Given the description of an element on the screen output the (x, y) to click on. 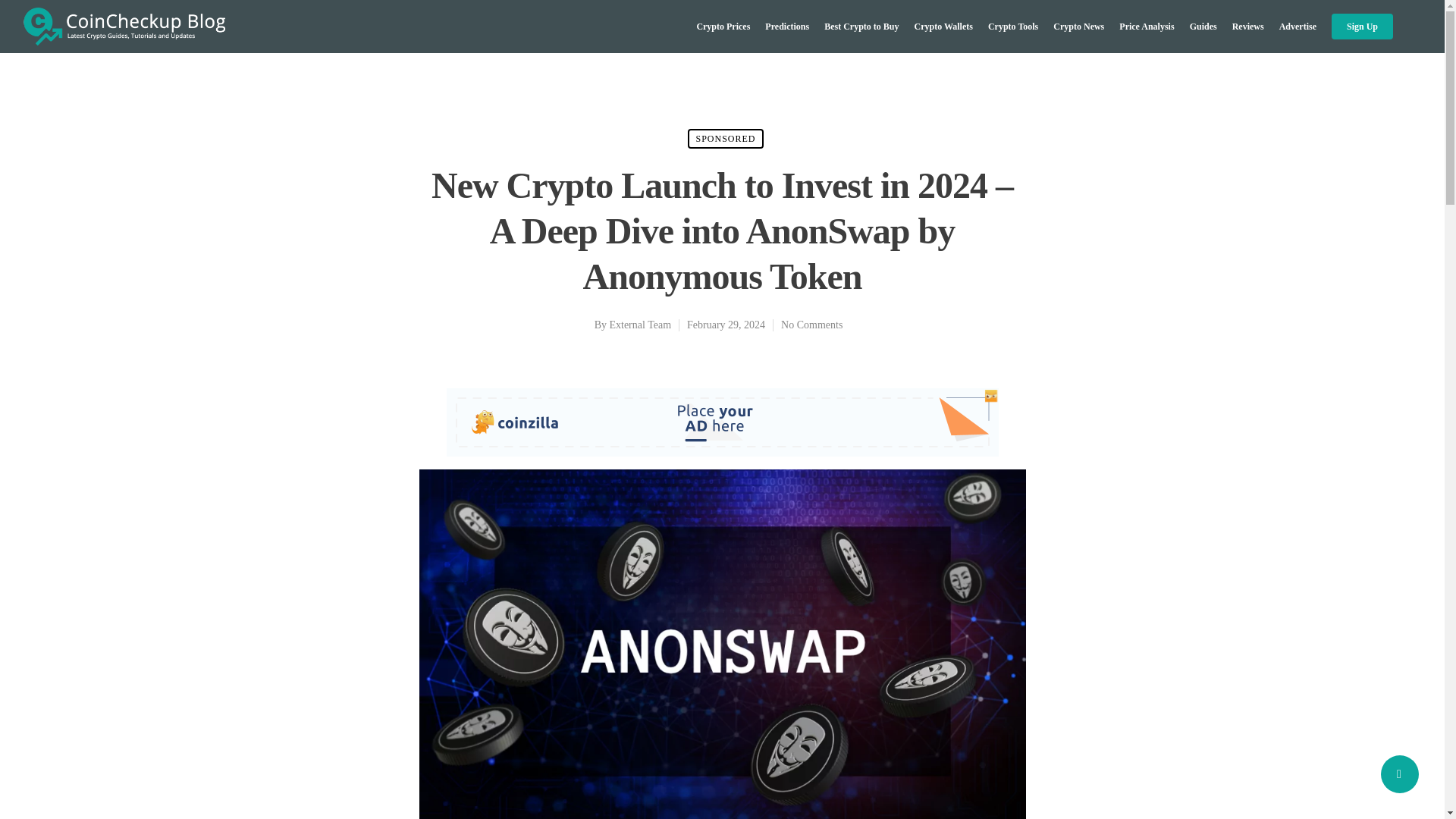
Crypto Prices (722, 26)
Crypto News (1077, 26)
Posts by External Team (639, 324)
SPONSORED (724, 138)
Crypto Wallets (943, 26)
Crypto Tools (1013, 26)
Best Crypto to Buy (861, 26)
Reviews (1247, 26)
Advertise (1297, 26)
Predictions (787, 26)
No Comments (811, 324)
Guides (1203, 26)
Price Analysis (1146, 26)
Sign Up (1362, 26)
External Team (639, 324)
